Given the description of an element on the screen output the (x, y) to click on. 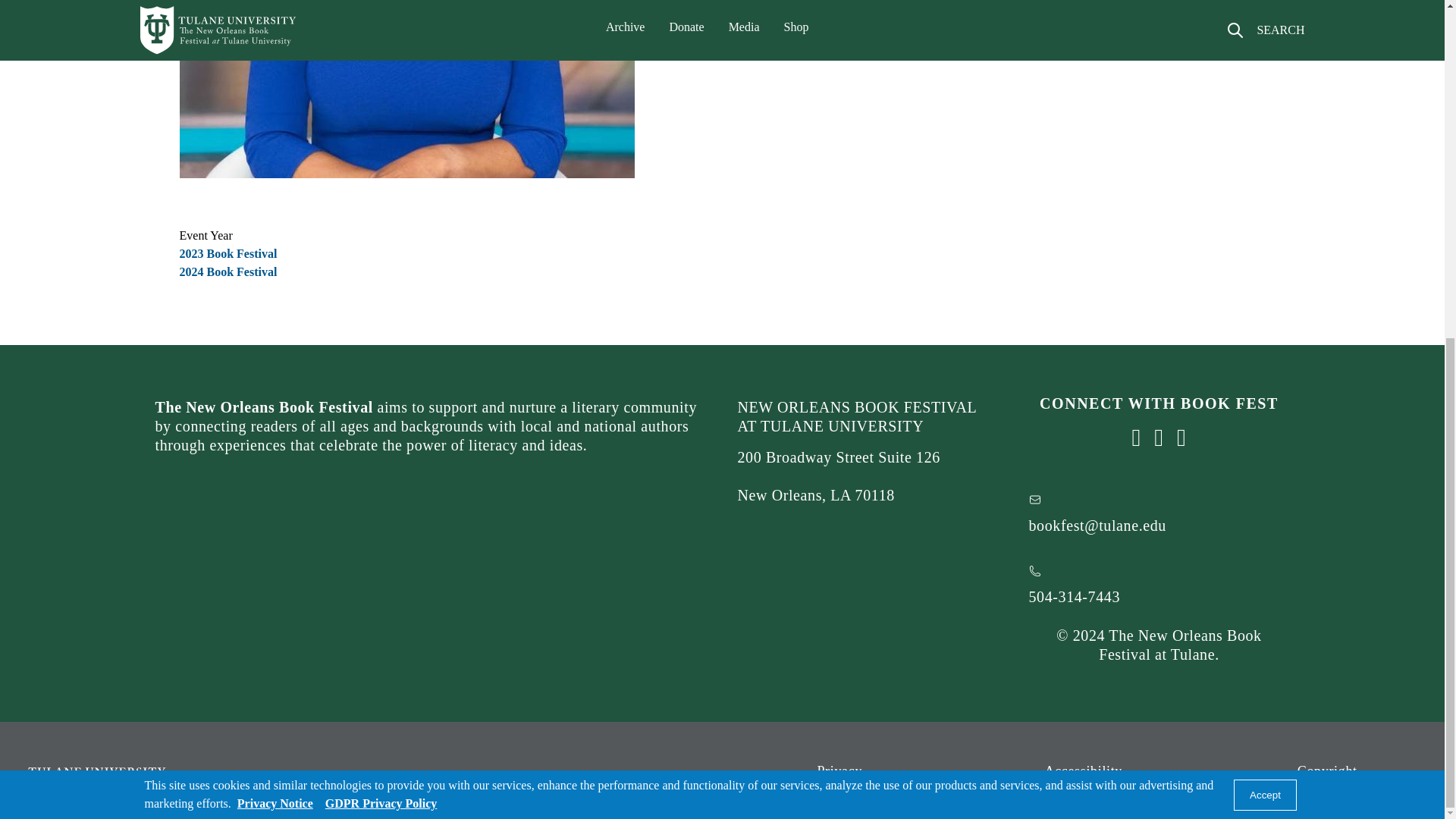
GDPR Privacy Policy (381, 233)
Privacy Notice (275, 233)
Accept (1265, 224)
Home (189, 778)
